Given the description of an element on the screen output the (x, y) to click on. 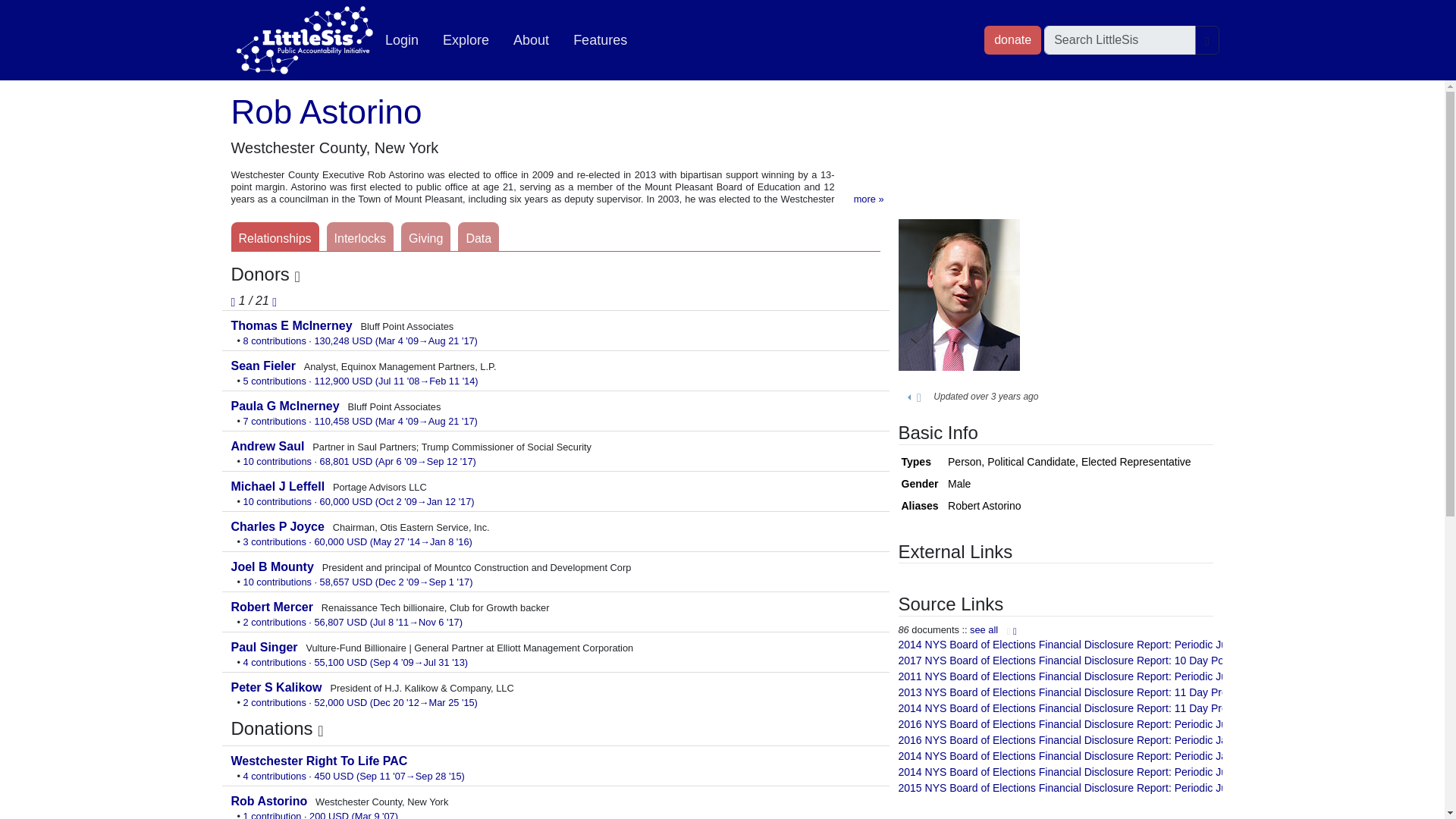
Westchester County, New York (270, 800)
Login (401, 40)
Chairman, Otis Eastern Service, Inc. (278, 526)
Portage Advisors LLC (278, 486)
Analyst, Equinox Management Partners, L.P. (264, 365)
Renaissance Tech billionaire, Club for Growth backer (272, 606)
Explore (465, 40)
donate (1012, 39)
Bluff Point Associates (286, 405)
